Given the description of an element on the screen output the (x, y) to click on. 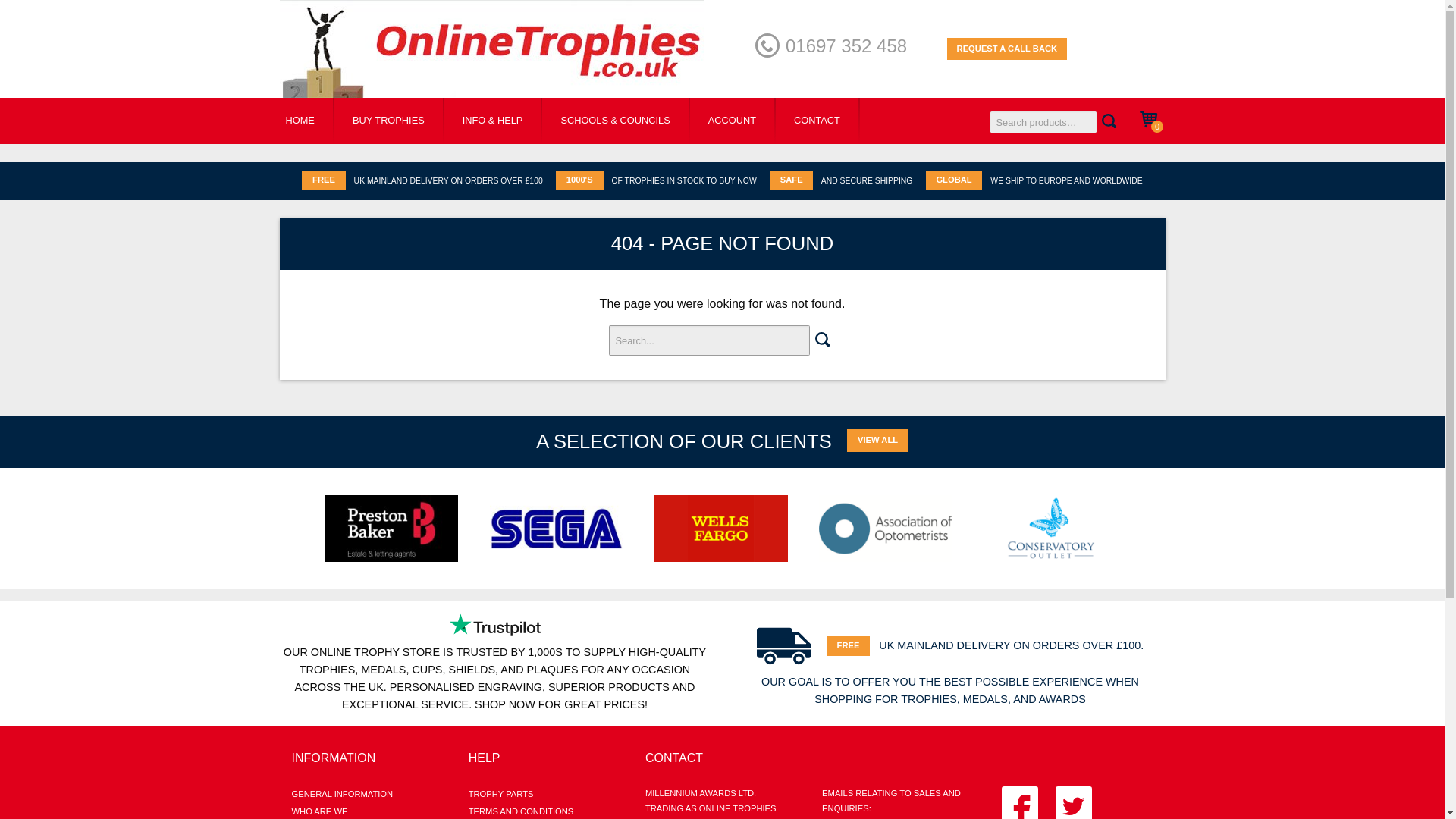
TROPHY PARTS (544, 794)
HOME (298, 120)
Search (1109, 122)
GLOBAL WE SHIP TO EUROPE AND WORLDWIDE (1034, 180)
1000'S OF TROPHIES IN STOCK TO BUY NOW (656, 180)
ACCOUNT (732, 120)
0 (1152, 121)
BUY TROPHIES (388, 120)
WHO ARE WE (367, 811)
VIEW ALL (877, 440)
